Given the description of an element on the screen output the (x, y) to click on. 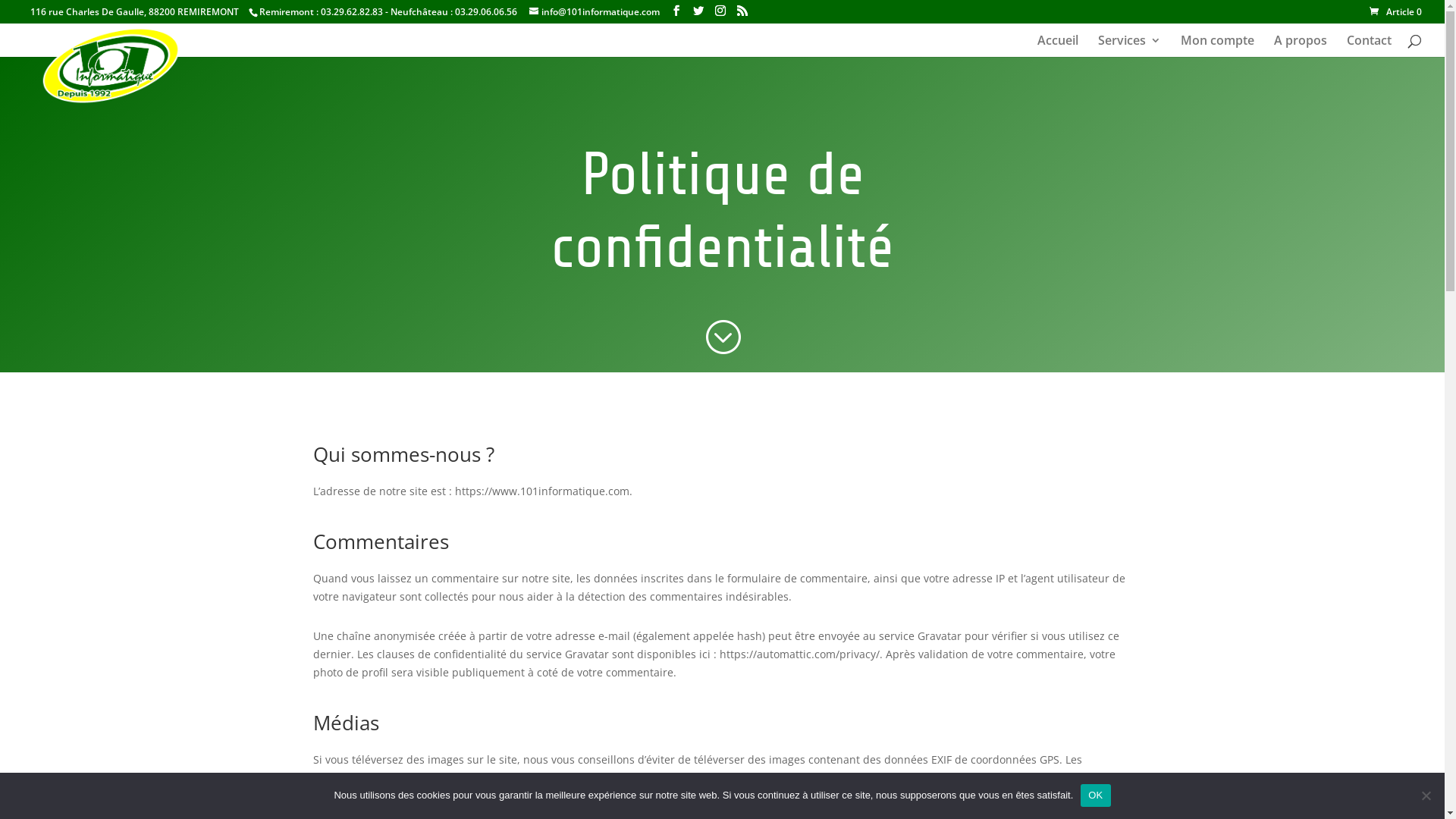
Accueil Element type: text (1057, 45)
Article 0 Element type: text (1395, 11)
A propos Element type: text (1300, 45)
Mon compte Element type: text (1217, 45)
Contact Element type: text (1368, 45)
Services Element type: text (1129, 45)
info@101informatique.com Element type: text (594, 11)
OK Element type: text (1095, 795)
Non Element type: hover (1425, 795)
; Element type: text (721, 336)
